Given the description of an element on the screen output the (x, y) to click on. 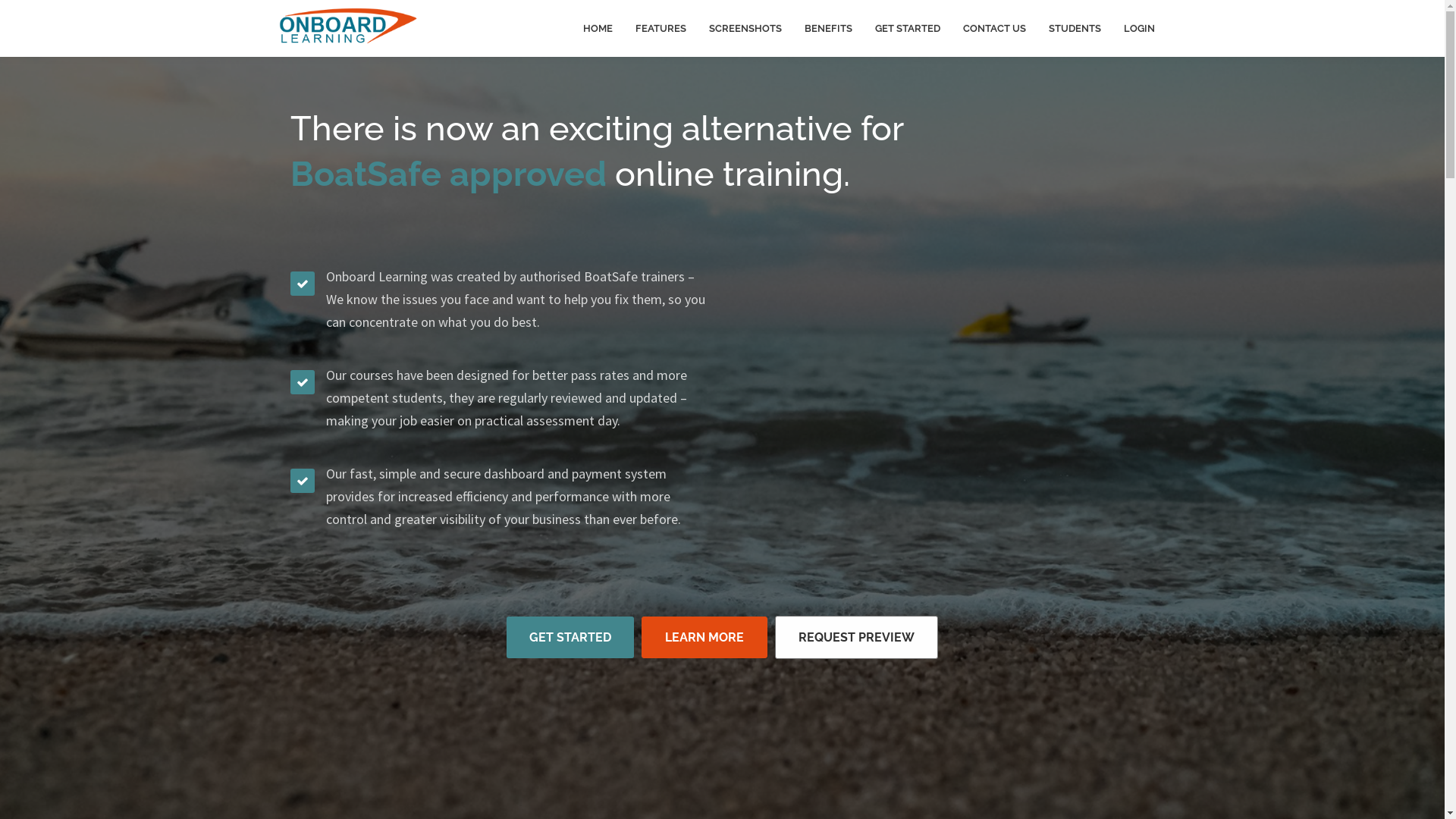
CONTACT US Element type: text (993, 28)
GET STARTED Element type: text (569, 637)
LEARN MORE Element type: text (704, 637)
BENEFITS Element type: text (828, 28)
LOGIN Element type: text (1138, 28)
FEATURES Element type: text (659, 28)
GET STARTED Element type: text (906, 28)
SCREENSHOTS Element type: text (745, 28)
HOME Element type: text (597, 28)
REQUEST PREVIEW Element type: text (856, 636)
STUDENTS Element type: text (1074, 28)
